Given the description of an element on the screen output the (x, y) to click on. 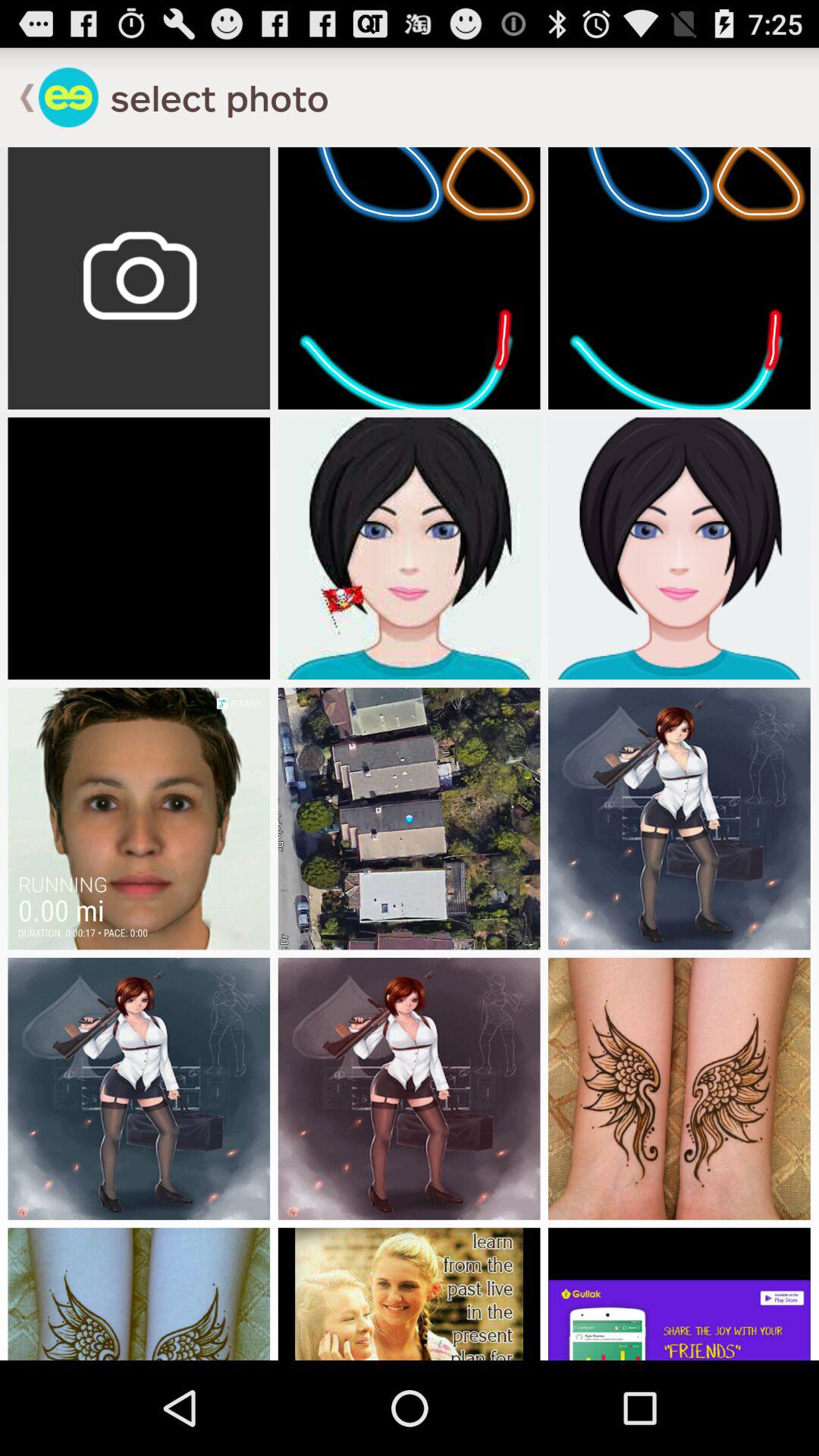
app logo (68, 97)
